Given the description of an element on the screen output the (x, y) to click on. 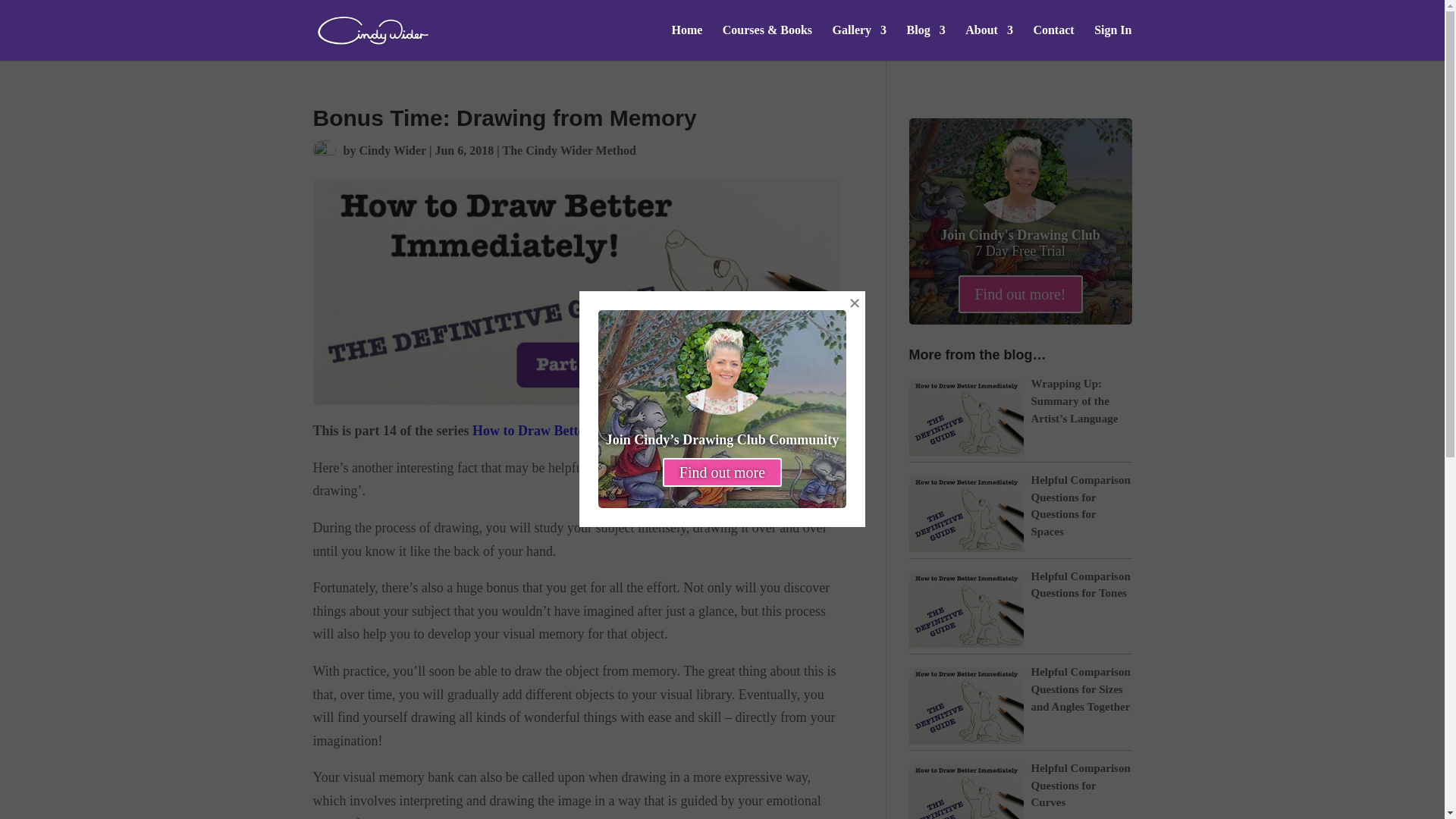
Helpful Comparison Questions for Tones (1080, 584)
Sign In (1112, 42)
Contact (1053, 42)
Blog (925, 42)
Cindy Wider (391, 150)
Posts by Cindy Wider (391, 150)
Find out more! (1020, 293)
About (989, 42)
Helpful Comparison Questions for Curves (1080, 785)
Helpful Comparison Questions for Questions for Spaces (1080, 505)
Gallery (859, 42)
The Cindy Wider Method (568, 150)
Helpful Comparison Questions for Sizes and Angles Together (1080, 688)
